Given the description of an element on the screen output the (x, y) to click on. 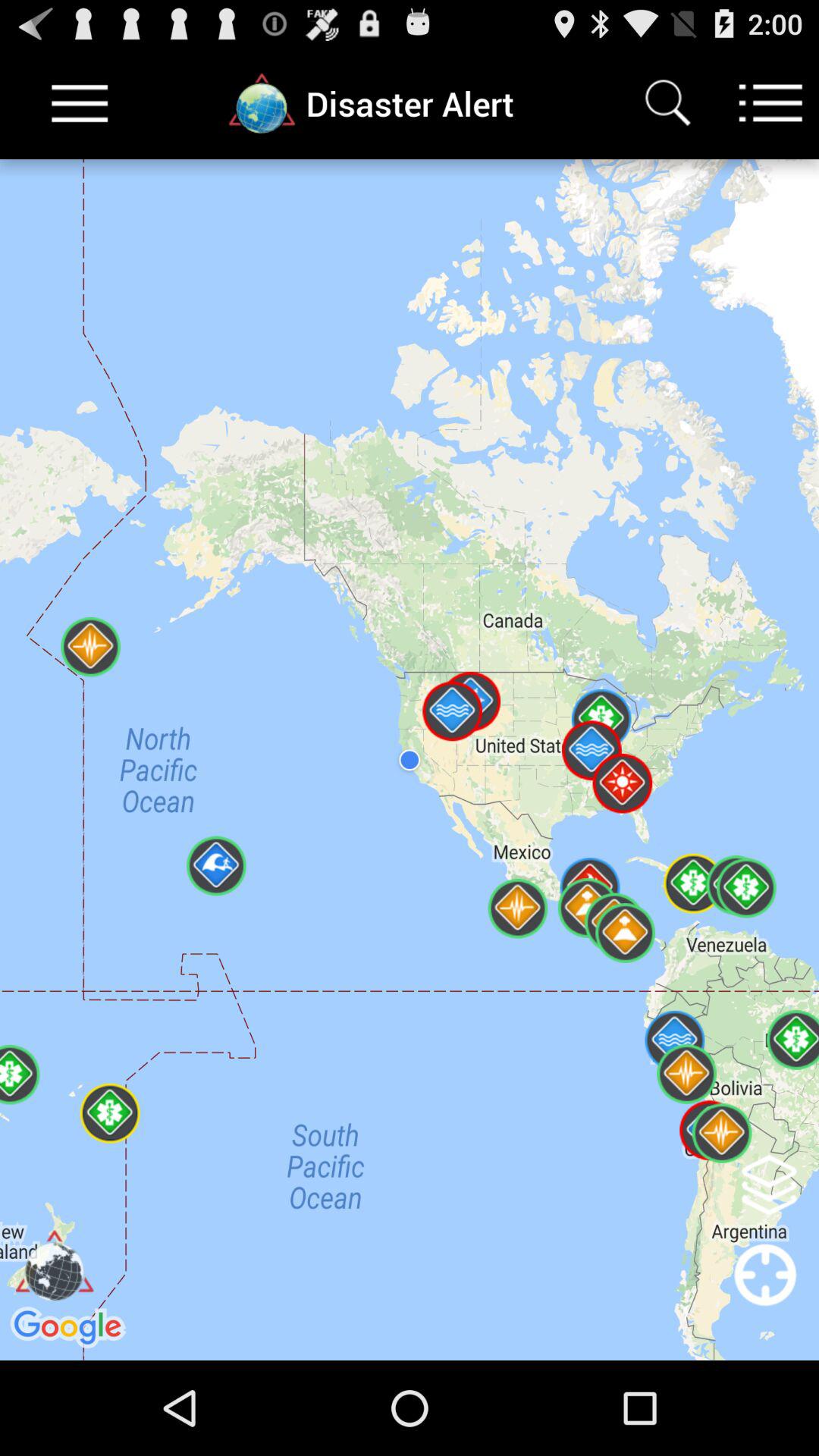
select the item to the right of disaster alert (667, 102)
